Given the description of an element on the screen output the (x, y) to click on. 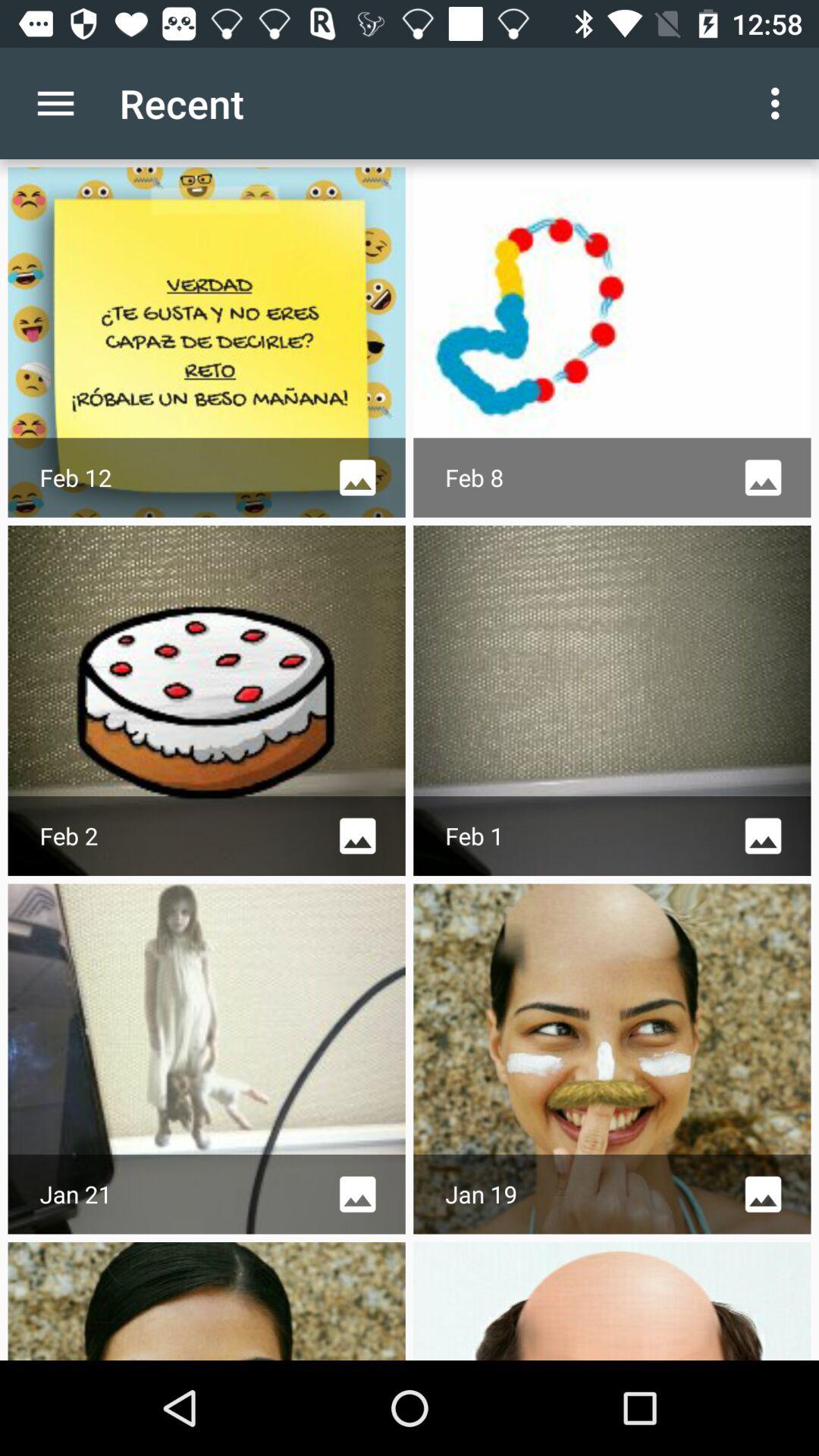
press the icon to the left of recent app (55, 103)
